Given the description of an element on the screen output the (x, y) to click on. 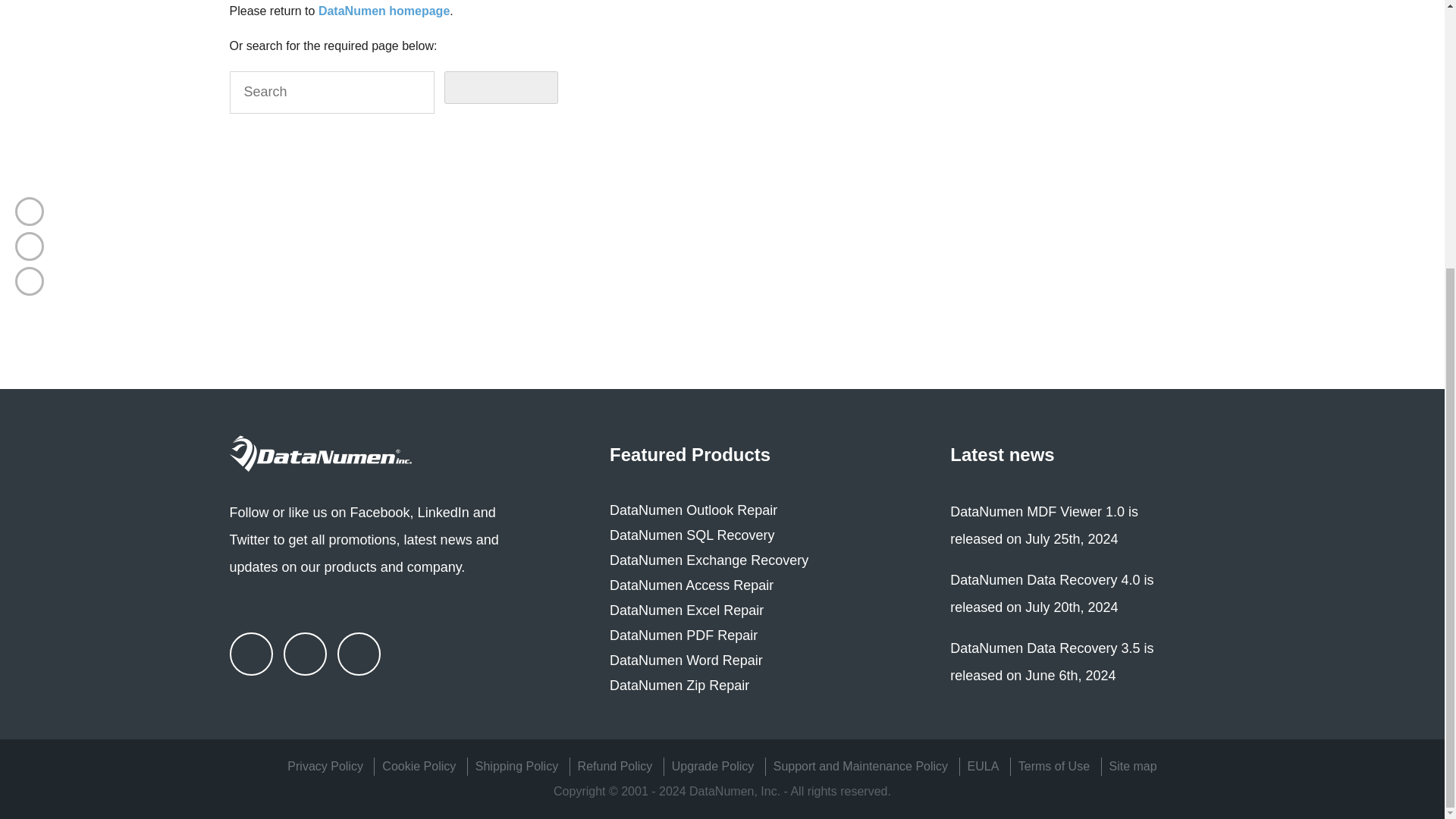
Search for: (330, 92)
